Given the description of an element on the screen output the (x, y) to click on. 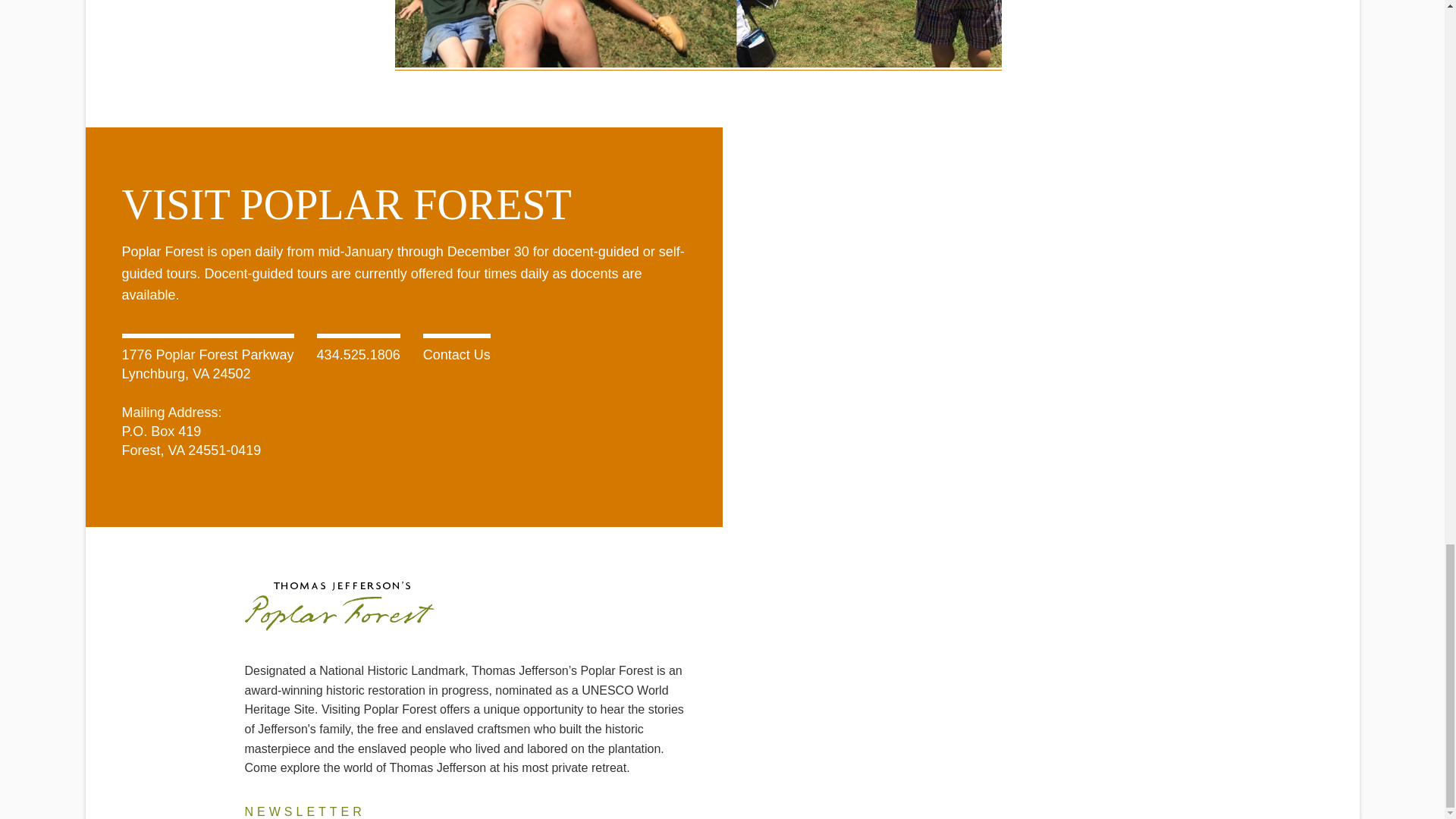
434.525.1806 (358, 354)
Contact Us (456, 354)
